Given the description of an element on the screen output the (x, y) to click on. 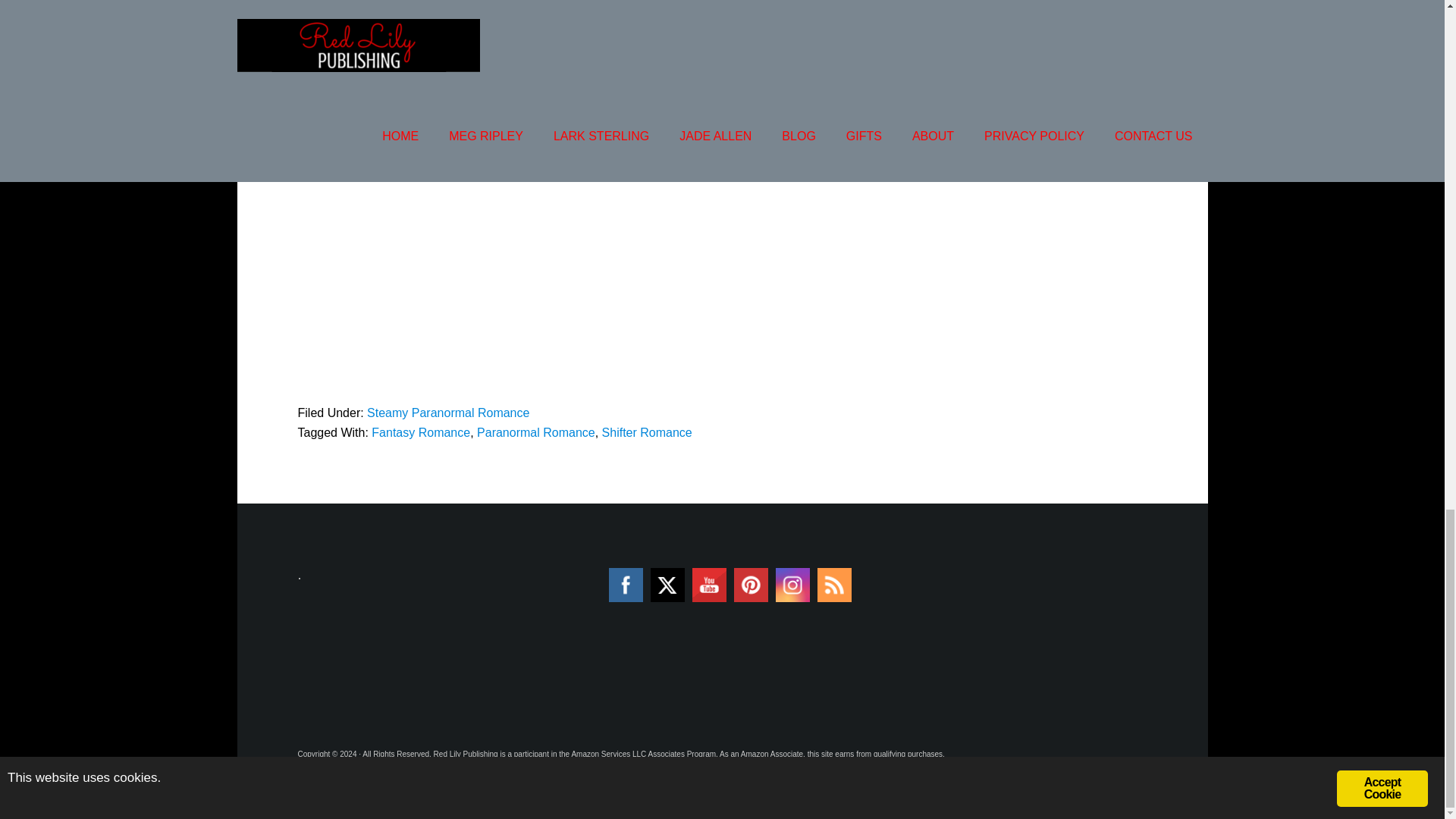
RSS (834, 584)
Steamy Paranormal Romance (447, 412)
INSTAGRAM (792, 584)
Pinterest (750, 584)
YOUTUBE (709, 584)
Facebook (624, 584)
Twitter (667, 584)
